Given the description of an element on the screen output the (x, y) to click on. 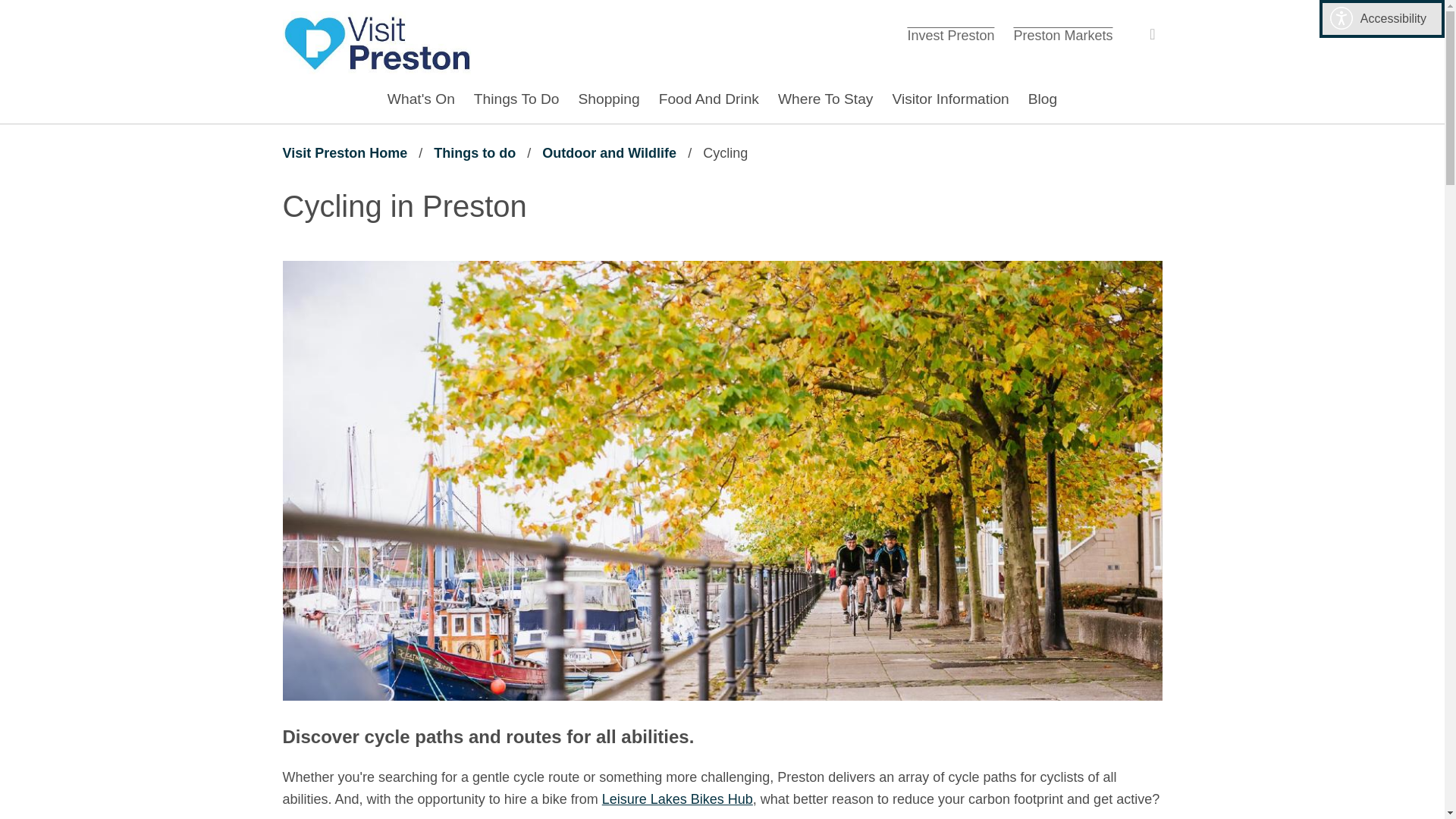
Things To Do (516, 98)
Things to do (474, 153)
Outdoor and Wildlife (376, 42)
Visit Preston Home (609, 153)
Search this website (344, 153)
Where To Stay (1147, 34)
Preston Markets (825, 98)
Leisure Lakes Bike Hub (1062, 34)
Main image: Men cycling along path at Preston docks. (677, 798)
Food And Drink (950, 34)
What'S On (708, 98)
Skip to main content (421, 98)
Leisure Lakes Bikes Hub (11, 11)
